Given the description of an element on the screen output the (x, y) to click on. 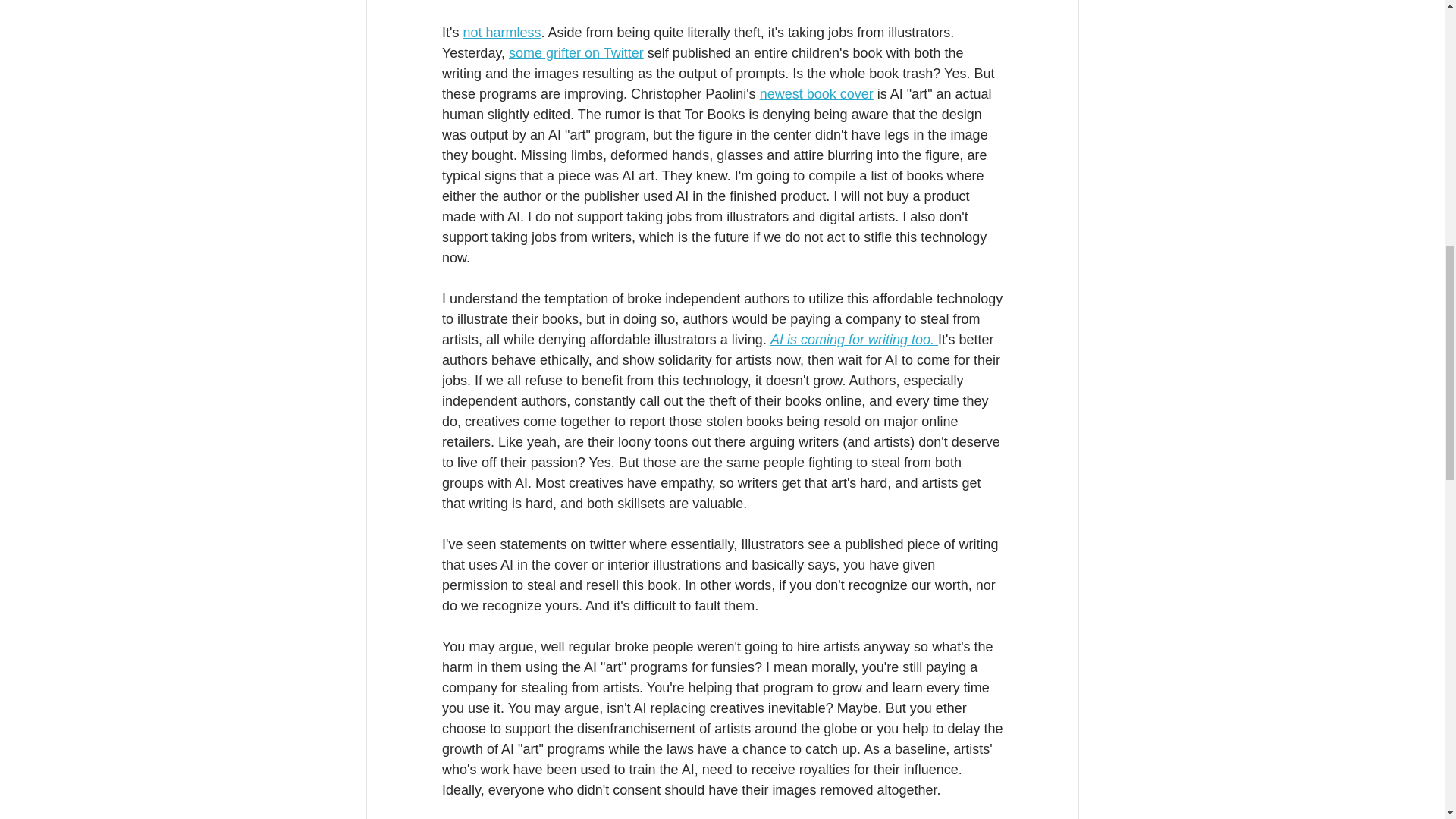
AI is coming for writing too.  (853, 339)
not harmless (501, 32)
newest book cover (815, 93)
some grifter on Twitter (575, 52)
